Given the description of an element on the screen output the (x, y) to click on. 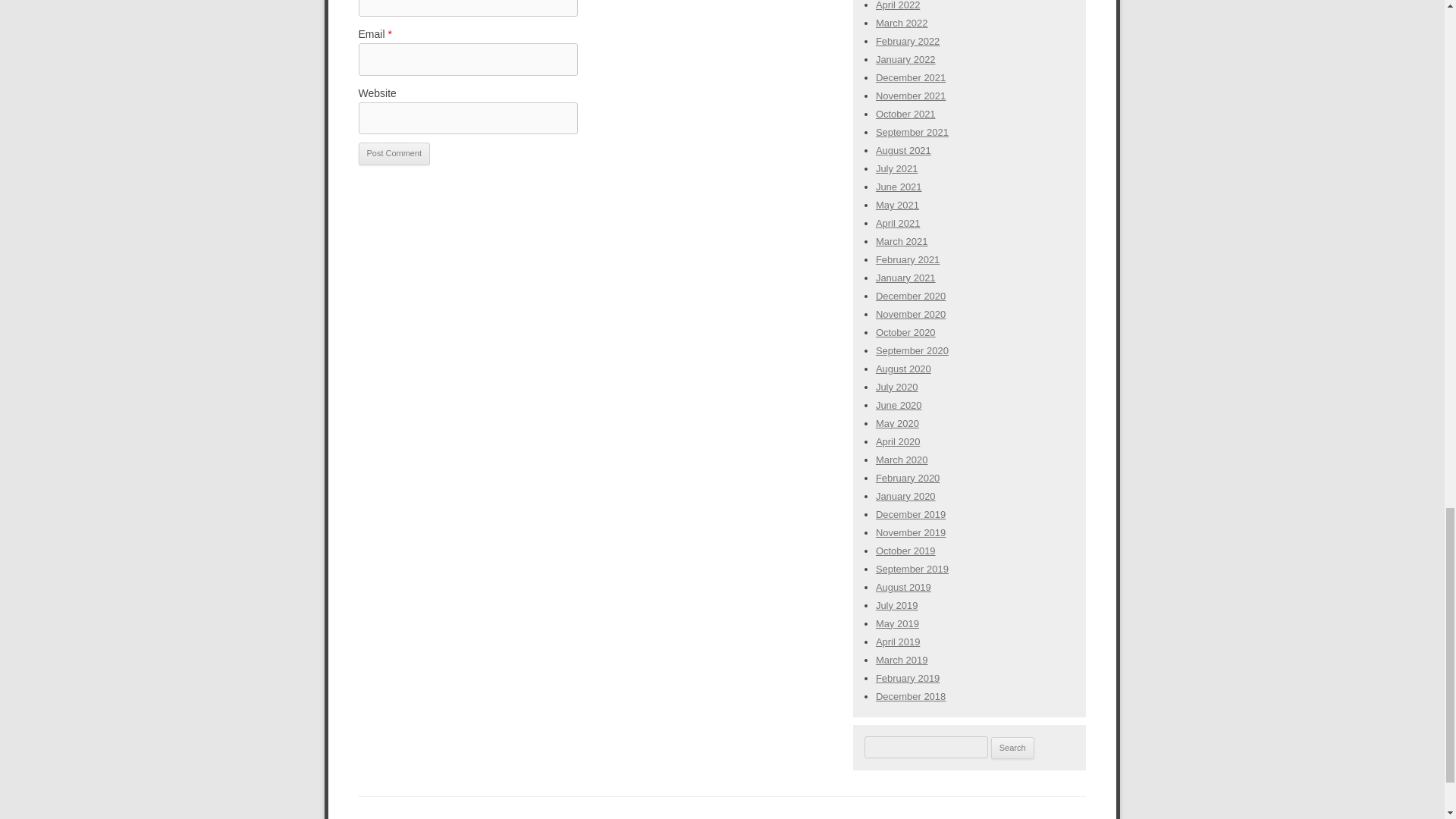
Search (1012, 748)
Post Comment (393, 153)
Post Comment (393, 153)
